Given the description of an element on the screen output the (x, y) to click on. 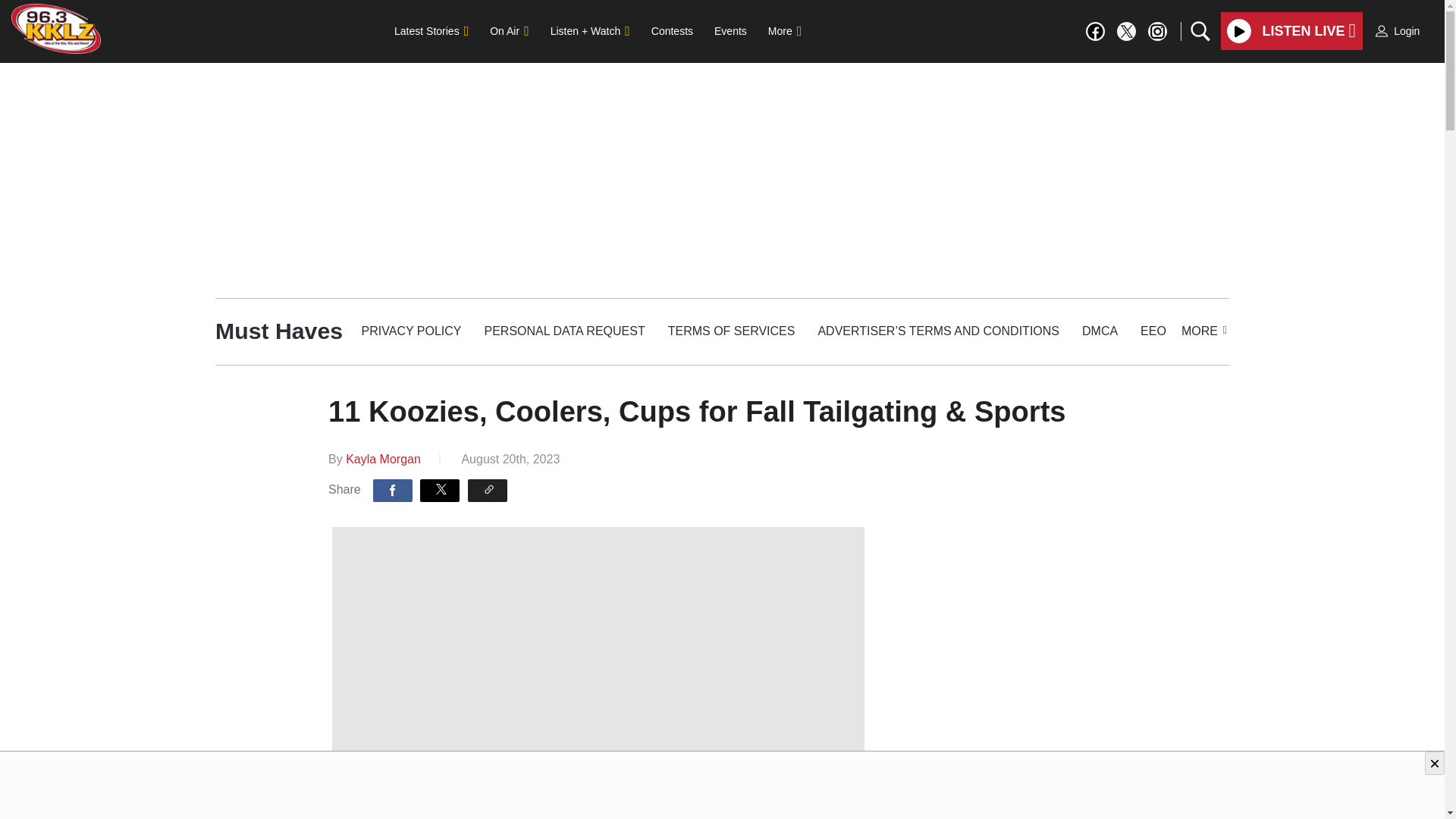
Kayla Morgan (383, 459)
On Air (508, 30)
Latest Stories (431, 30)
